Given the description of an element on the screen output the (x, y) to click on. 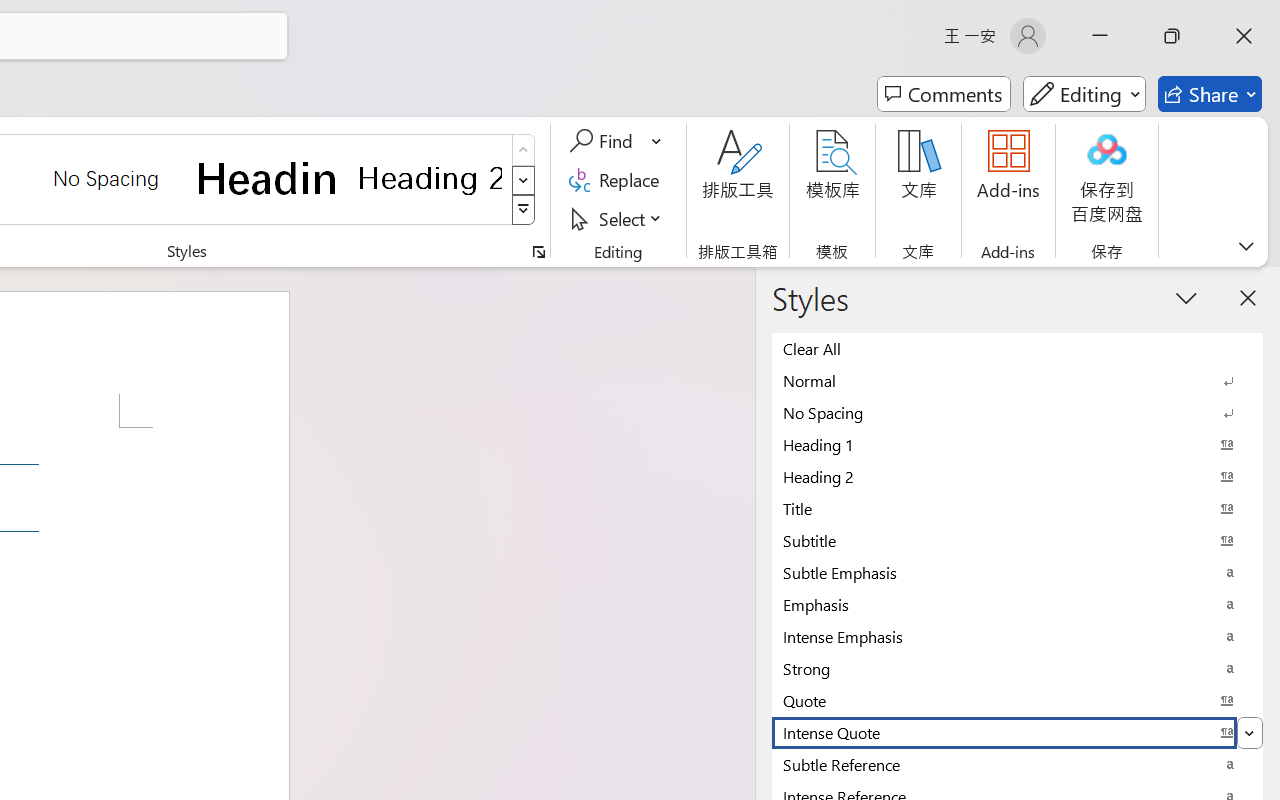
Task Pane Options (1186, 297)
Title (1017, 508)
Heading 2 (429, 178)
Subtle Emphasis (1017, 572)
Heading 1 (267, 178)
Replace... (617, 179)
Emphasis (1017, 604)
